Given the description of an element on the screen output the (x, y) to click on. 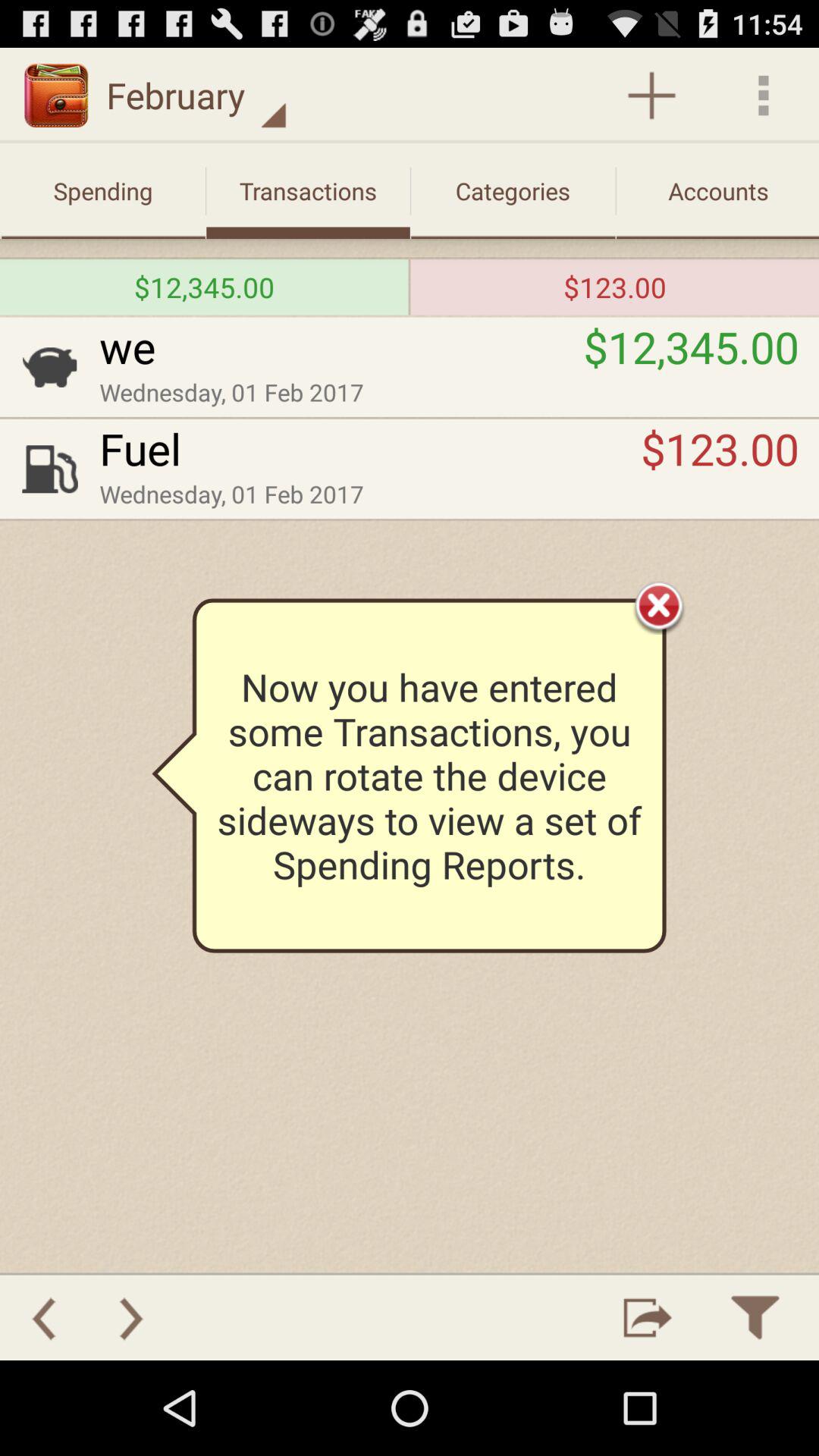
tap the item above accounts icon (763, 95)
